Given the description of an element on the screen output the (x, y) to click on. 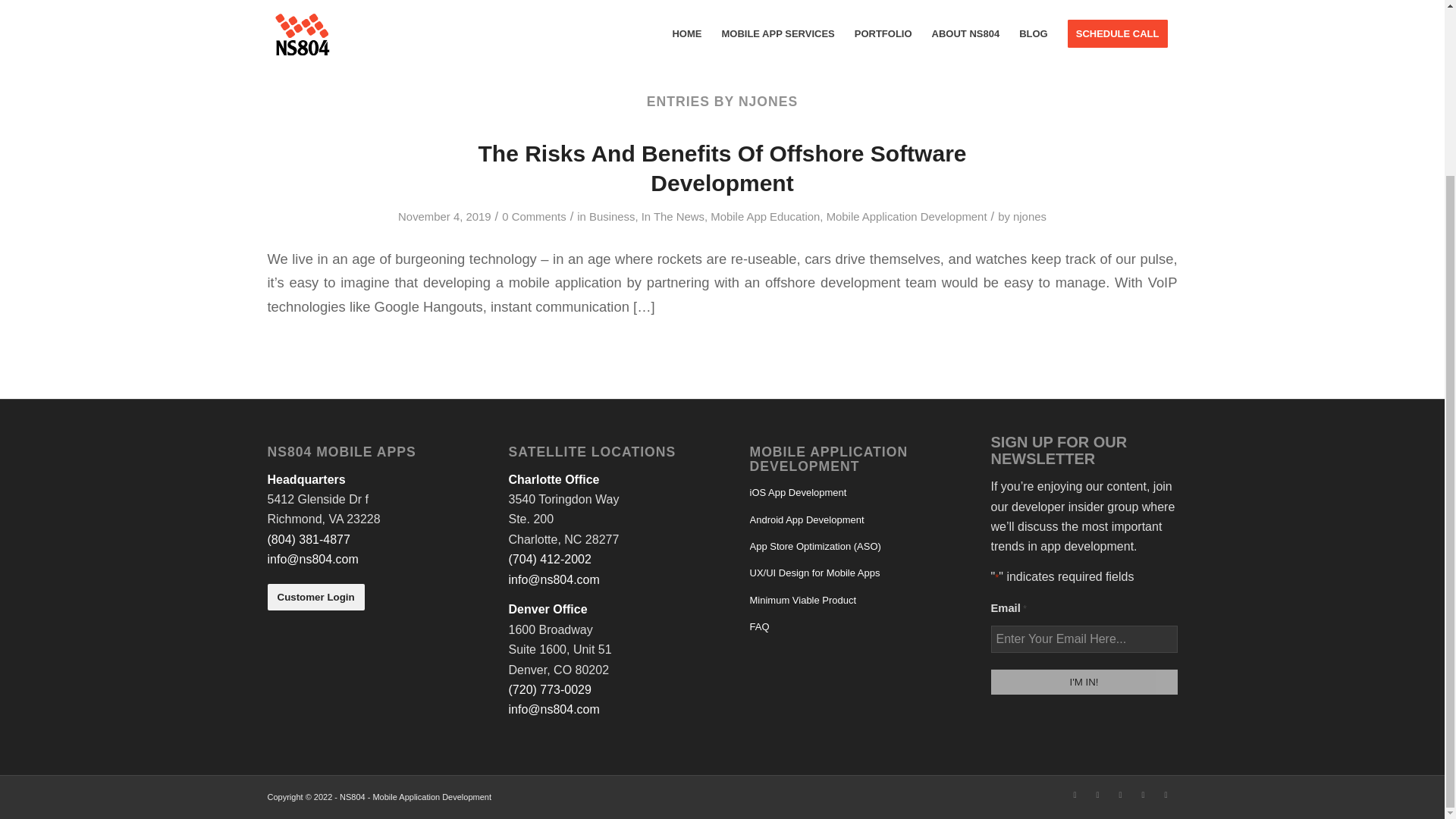
Instagram (1119, 793)
Mobile App Education (764, 216)
Youtube (1165, 793)
njones (1029, 216)
LinkedIn (1074, 793)
0 Comments (534, 216)
Mobile Application Development (907, 216)
Customer Login (315, 595)
Posts by njones (1029, 216)
